Given the description of an element on the screen output the (x, y) to click on. 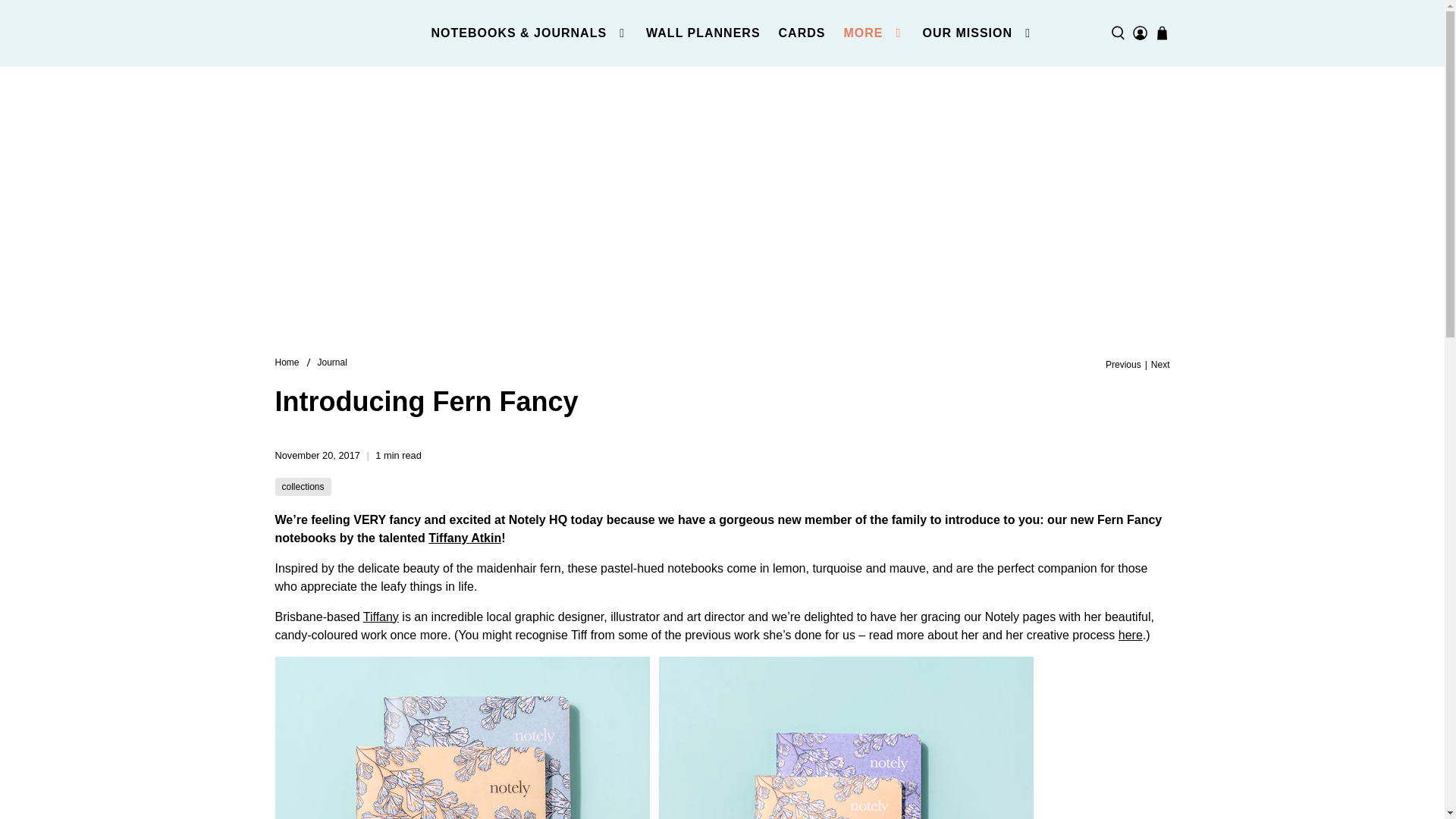
Previous (1123, 364)
WALL PLANNERS (702, 33)
Journal tagged collections (303, 486)
MORE (873, 33)
Journal (332, 361)
OUR MISSION (977, 33)
Next (1160, 364)
Notely (347, 33)
Notely (286, 361)
CARDS (802, 33)
